Given the description of an element on the screen output the (x, y) to click on. 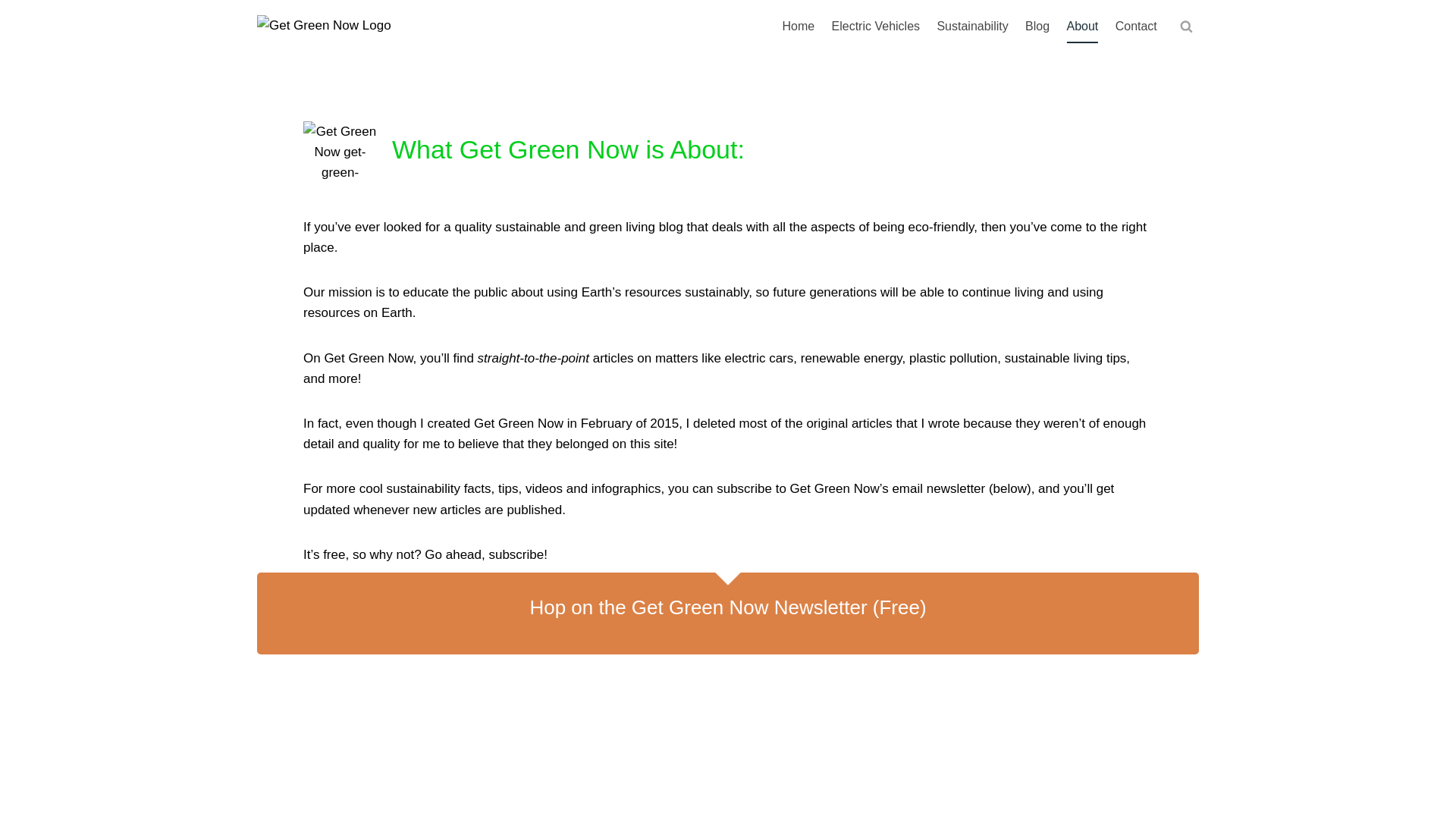
Sustainability (972, 26)
About (1082, 26)
Home (797, 26)
Electric Vehicles (875, 26)
Blog (1037, 26)
Contact (1136, 26)
